Given the description of an element on the screen output the (x, y) to click on. 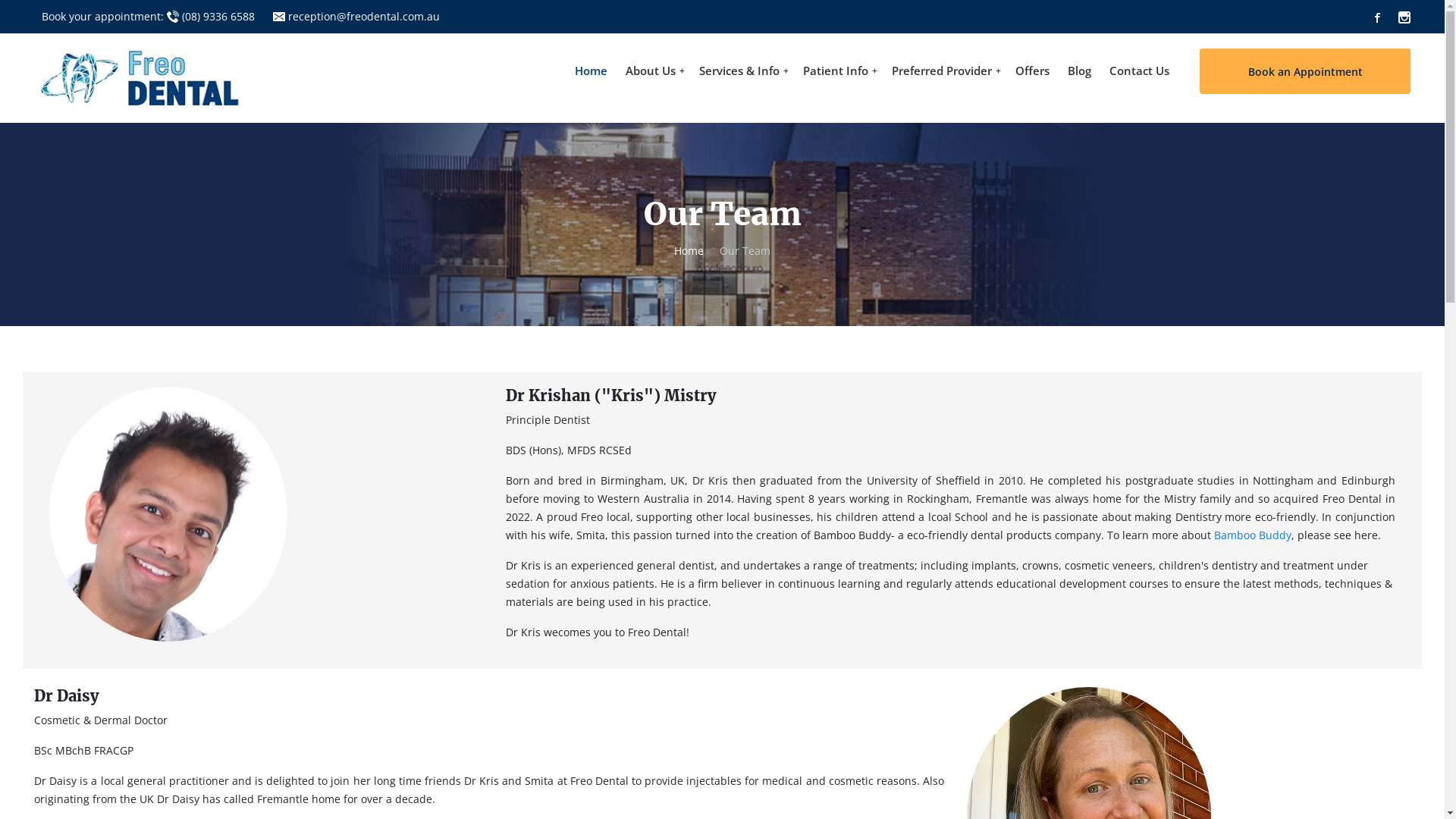
Blog Element type: text (1079, 70)
Preferred Provider
+ Element type: text (944, 70)
Book your appointment: (08) 9336 6588 Element type: text (148, 16)
About Us
+ Element type: text (653, 70)
Home Element type: text (688, 250)
Contact Us Element type: text (1138, 70)
Services & Info
+ Element type: text (741, 70)
Book an Appointment Element type: text (1304, 71)
Offers Element type: text (1032, 70)
Patient Info
+ Element type: text (838, 70)
reception@freodental.com.au Element type: text (356, 16)
Bamboo Buddy Element type: text (1252, 534)
Home Element type: text (591, 70)
